Given the description of an element on the screen output the (x, y) to click on. 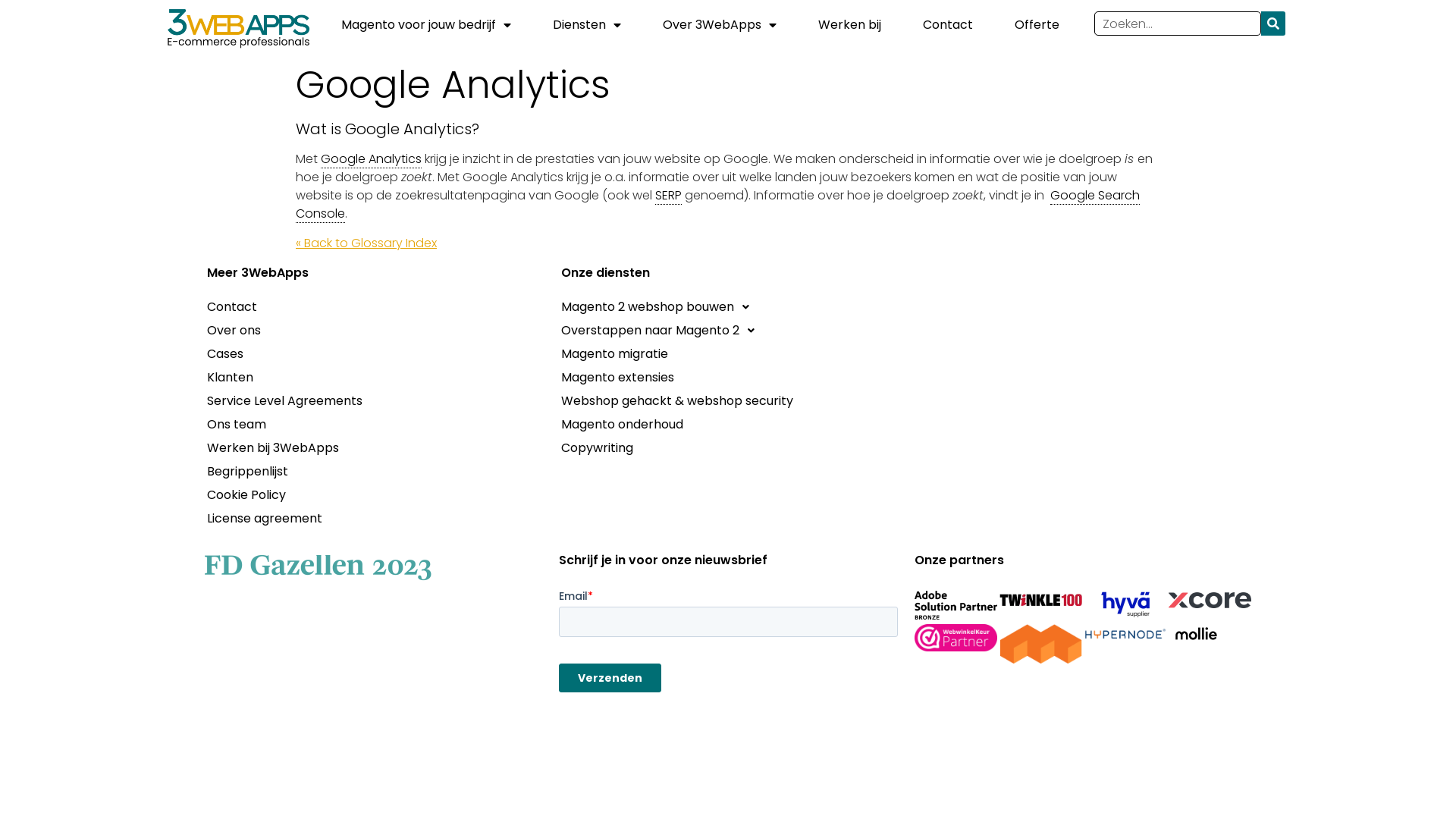
Begrippenlijst Element type: text (373, 471)
Cases Element type: text (373, 354)
Klanten Element type: text (373, 377)
Overstappen naar Magento 2 Element type: text (727, 330)
Form 0 Element type: hover (727, 646)
Contact Element type: text (947, 24)
Over 3WebApps Element type: text (719, 24)
3webapps Element type: hover (1081, 381)
Werken bij 3WebApps Element type: text (373, 448)
Magento voor jouw bedrijf Element type: text (426, 24)
Google Search Console Element type: text (717, 204)
Service Level Agreements Element type: text (373, 401)
Werken bij Element type: text (849, 24)
Diensten Element type: text (586, 24)
Over ons Element type: text (373, 330)
Twinkle100 Element type: hover (1040, 599)
Magento extensies Element type: text (727, 377)
Contact Element type: text (373, 307)
Google Analytics Element type: text (370, 159)
Cookie Policy Element type: text (373, 495)
Magento migratie Element type: text (727, 354)
Copywriting Element type: text (727, 448)
License agreement Element type: text (373, 518)
SERP Element type: text (668, 195)
Ons team Element type: text (373, 424)
Offerte Element type: text (1036, 24)
Magento 2 webshop bouwen Element type: text (727, 307)
Webshop gehackt & webshop security Element type: text (727, 401)
Magento onderhoud Element type: text (727, 424)
